Given the description of an element on the screen output the (x, y) to click on. 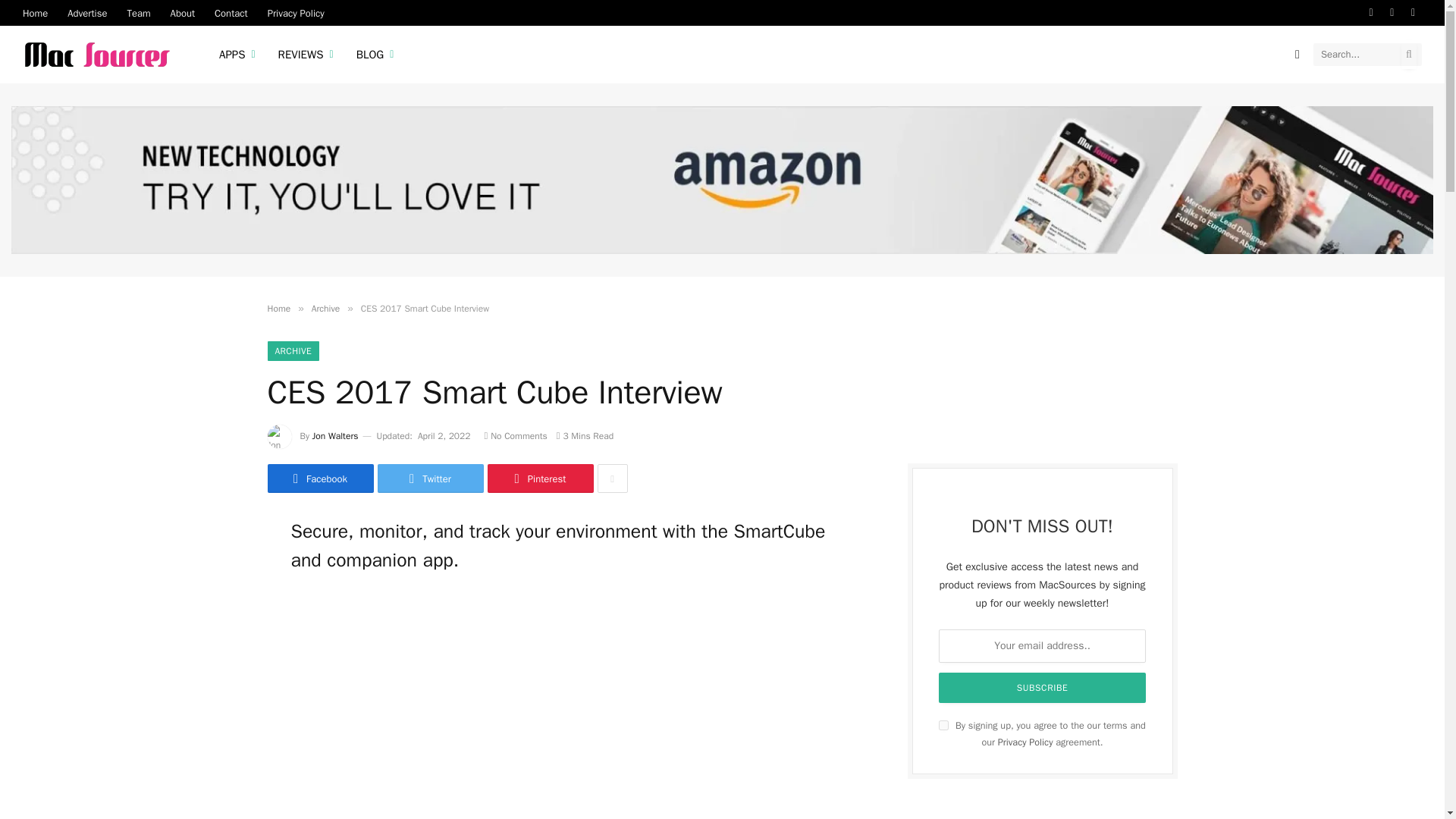
Home (35, 12)
on (944, 725)
Privacy Policy (295, 12)
About (182, 12)
Contact (231, 12)
APPS (237, 54)
REVIEWS (305, 54)
Team (138, 12)
Advertise (87, 12)
Subscribe (1043, 687)
